Given the description of an element on the screen output the (x, y) to click on. 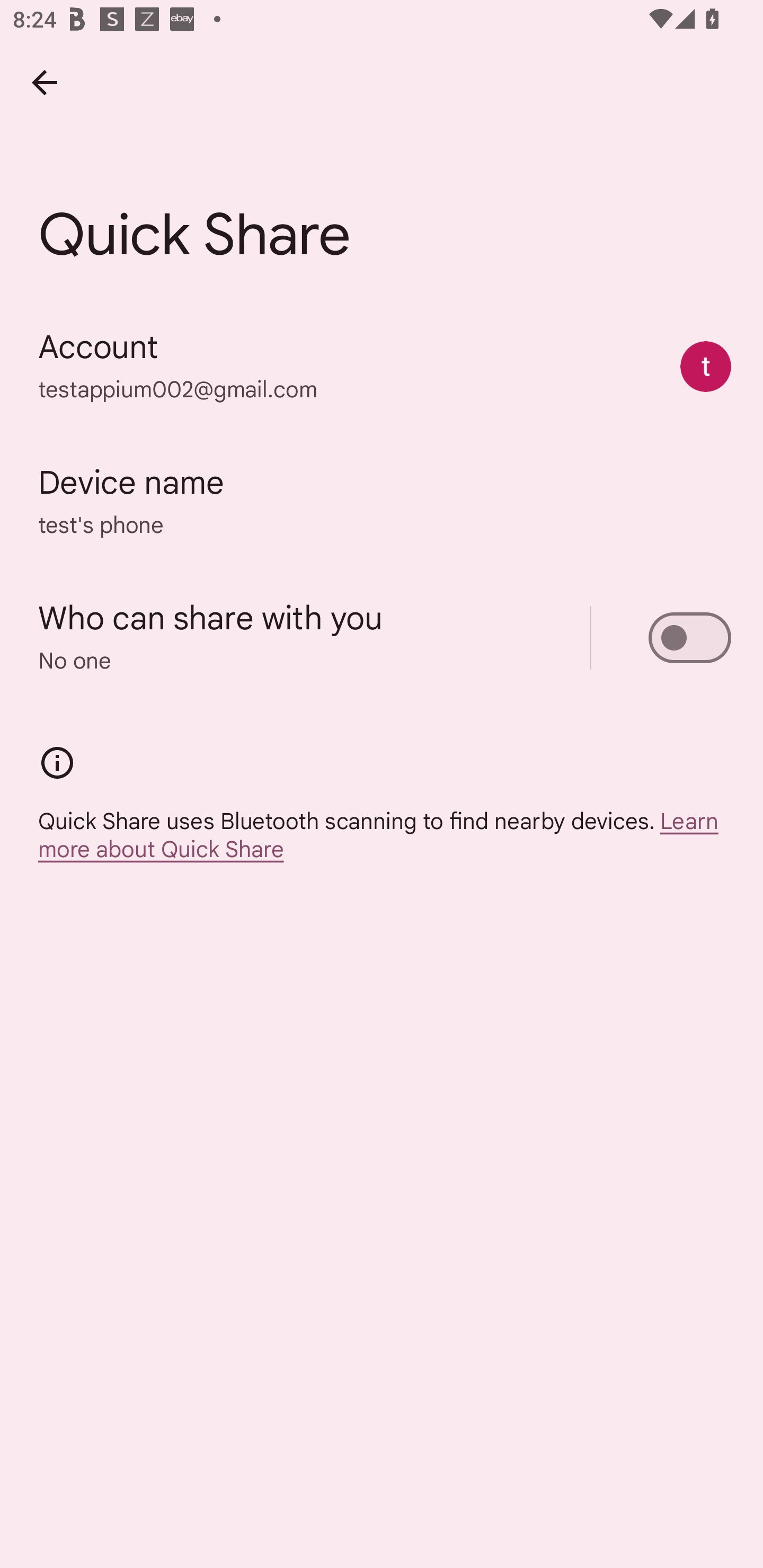
Back (44, 81)
Account testappium002@gmail.com (381, 366)
Device name test's phone (381, 502)
Who can share with you No one (381, 637)
